Given the description of an element on the screen output the (x, y) to click on. 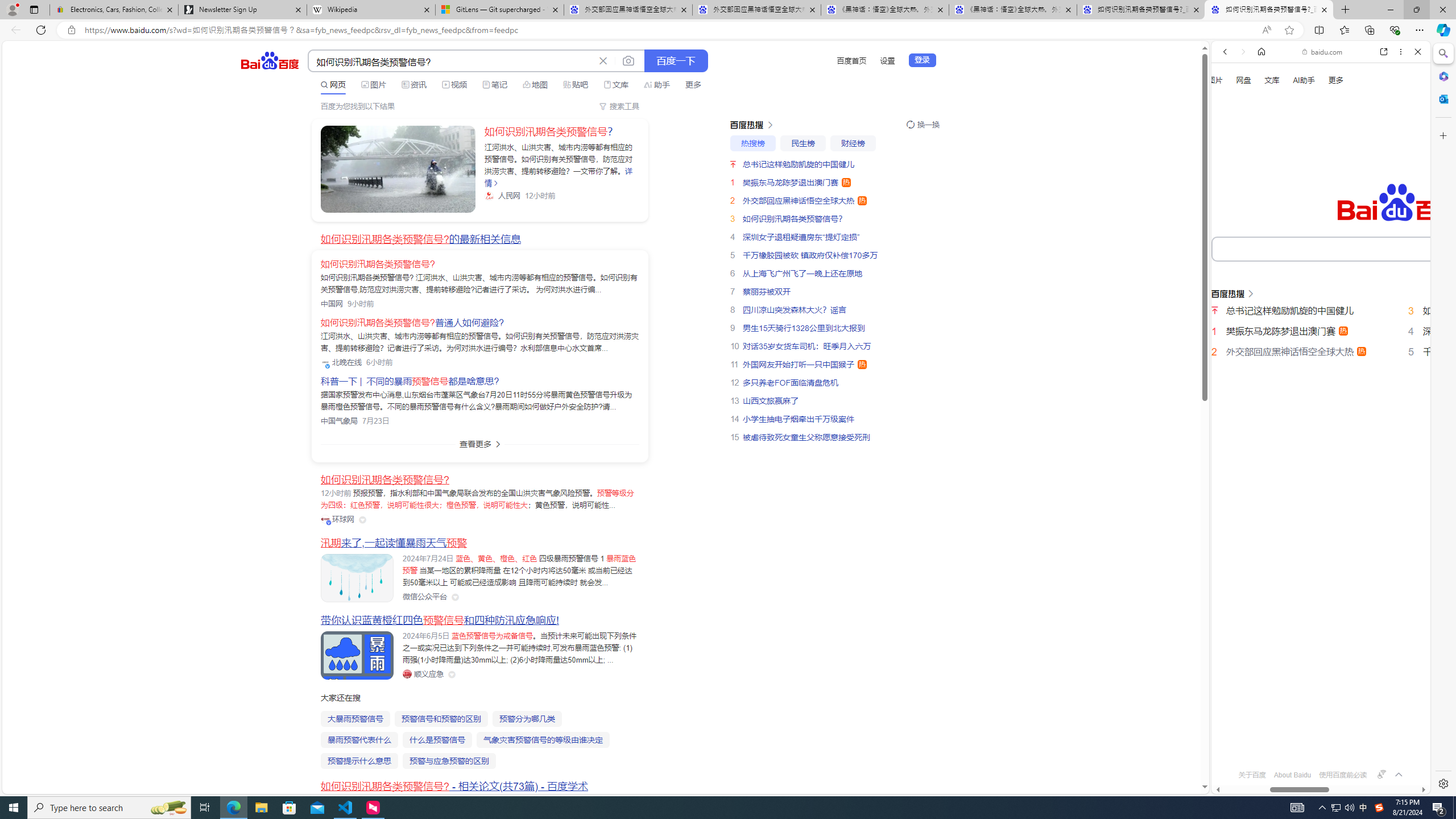
OF | English meaning - Cambridge Dictionary (1315, 238)
Class: b_serphb (1404, 193)
Actions for this site (1381, 514)
baidu.com (1323, 51)
